Given the description of an element on the screen output the (x, y) to click on. 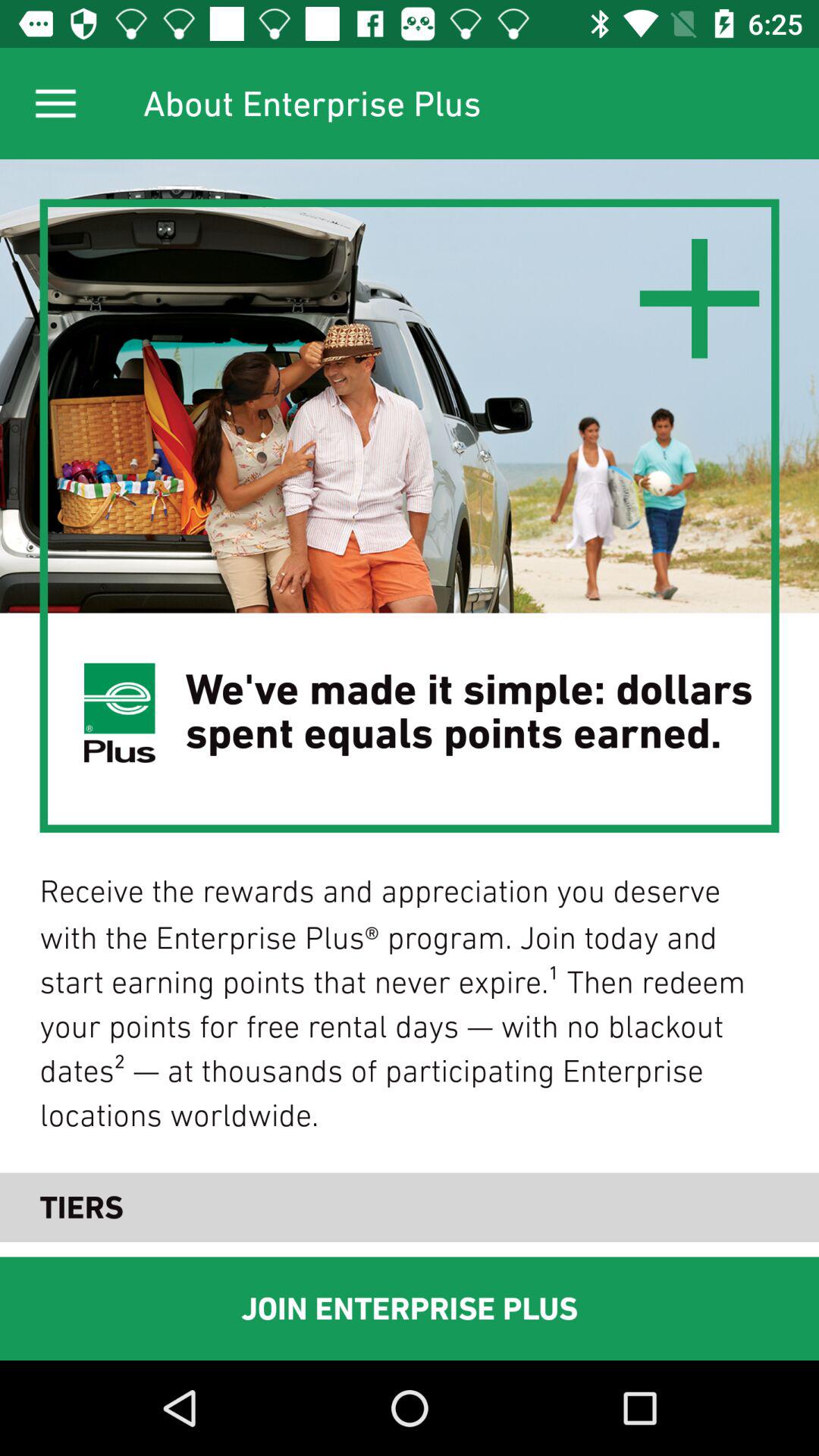
turn off the item next to about enterprise plus (55, 103)
